Given the description of an element on the screen output the (x, y) to click on. 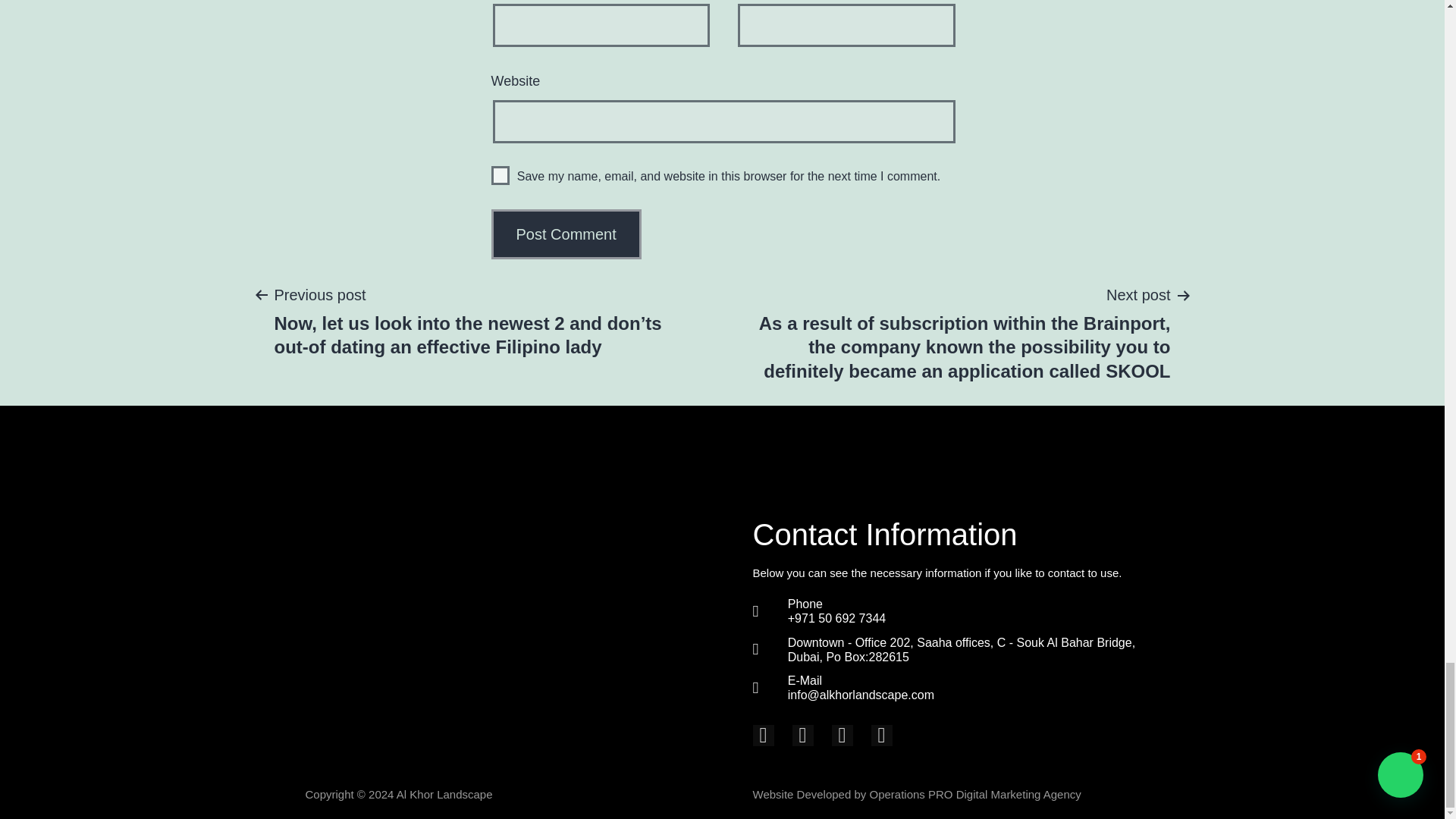
yes (500, 175)
Post Comment (567, 234)
Post Comment (567, 234)
Al Khor Landscape  (446, 793)
